Given the description of an element on the screen output the (x, y) to click on. 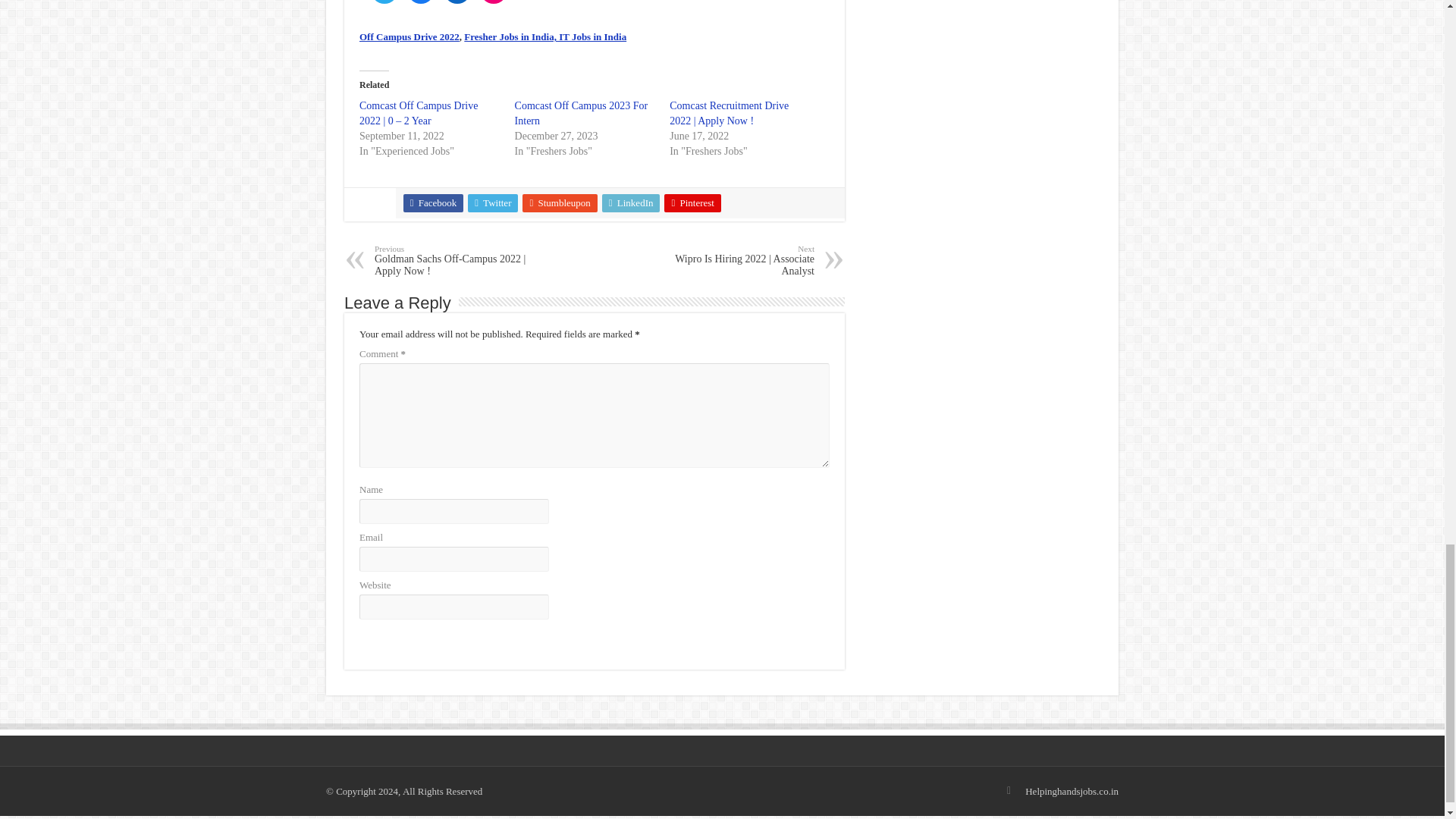
Post Comment (394, 639)
